Given the description of an element on the screen output the (x, y) to click on. 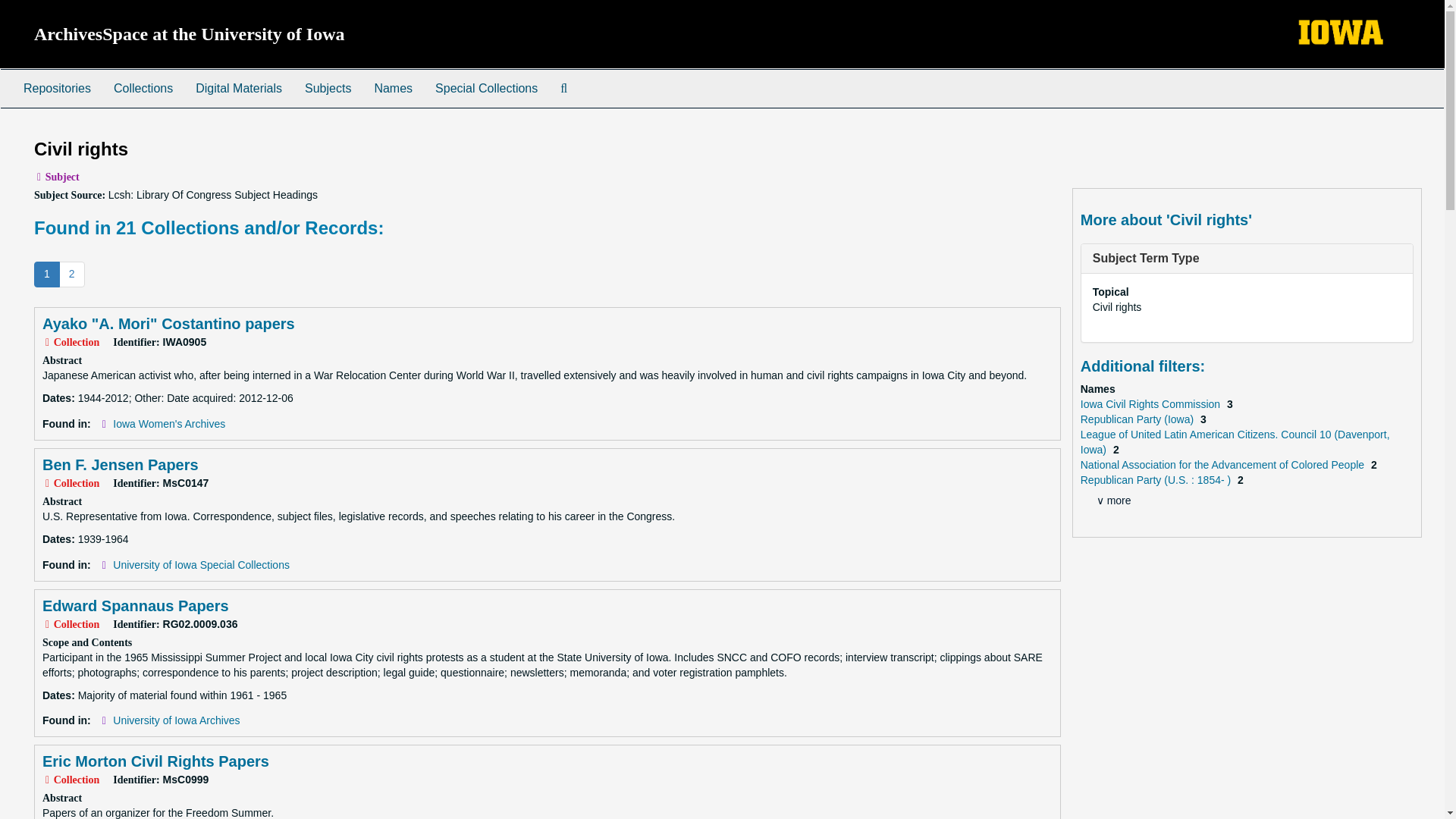
Ben F. Jensen Papers (120, 464)
Page Actions (1130, 131)
Collections (142, 88)
Digital Materials (239, 88)
1 (46, 274)
University of Iowa Special Collections (201, 564)
Filter By 'Iowa Civil Rights Commission' (1151, 404)
ArchivesSpace at the University of Iowa (189, 34)
Subjects (328, 88)
Ayako "A. Mori" Costantino papers (168, 323)
Return to the ArchivesSpace homepage (189, 34)
Names (392, 88)
Edward Spannaus Papers (135, 605)
Special Collections (485, 88)
